Given the description of an element on the screen output the (x, y) to click on. 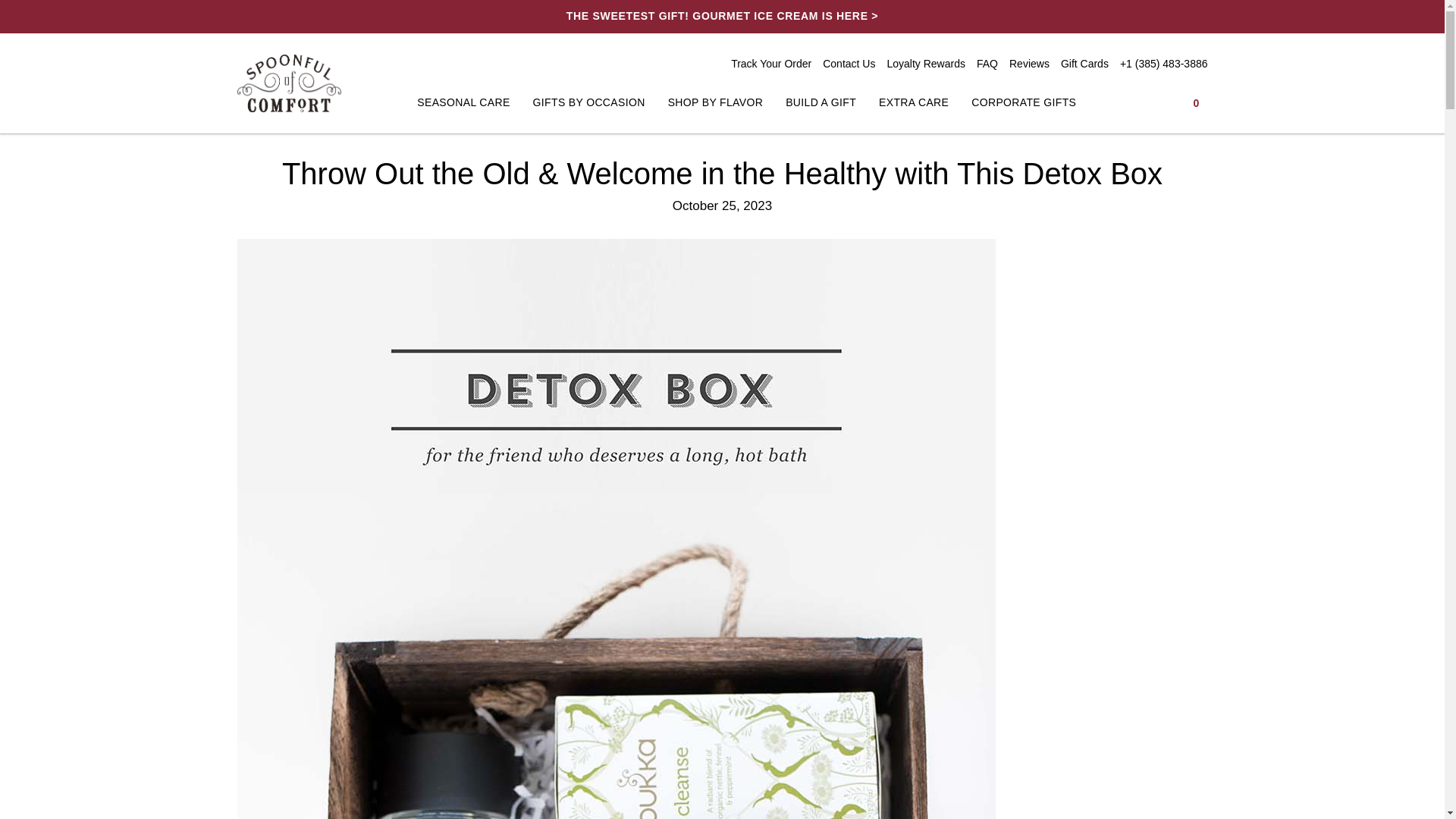
BUILD A GIFT (821, 101)
Loyalty Rewards (925, 63)
Track Your Order (770, 63)
FAQ (986, 63)
SHOP BY FLAVOR (715, 101)
Contact Us (848, 63)
Reviews (1029, 63)
SEASONAL CARE (462, 101)
CORPORATE GIFTS (1023, 101)
EXTRA CARE (914, 101)
0 (1196, 101)
Gift Cards (1084, 63)
GIFTS BY OCCASION (588, 101)
